Given the description of an element on the screen output the (x, y) to click on. 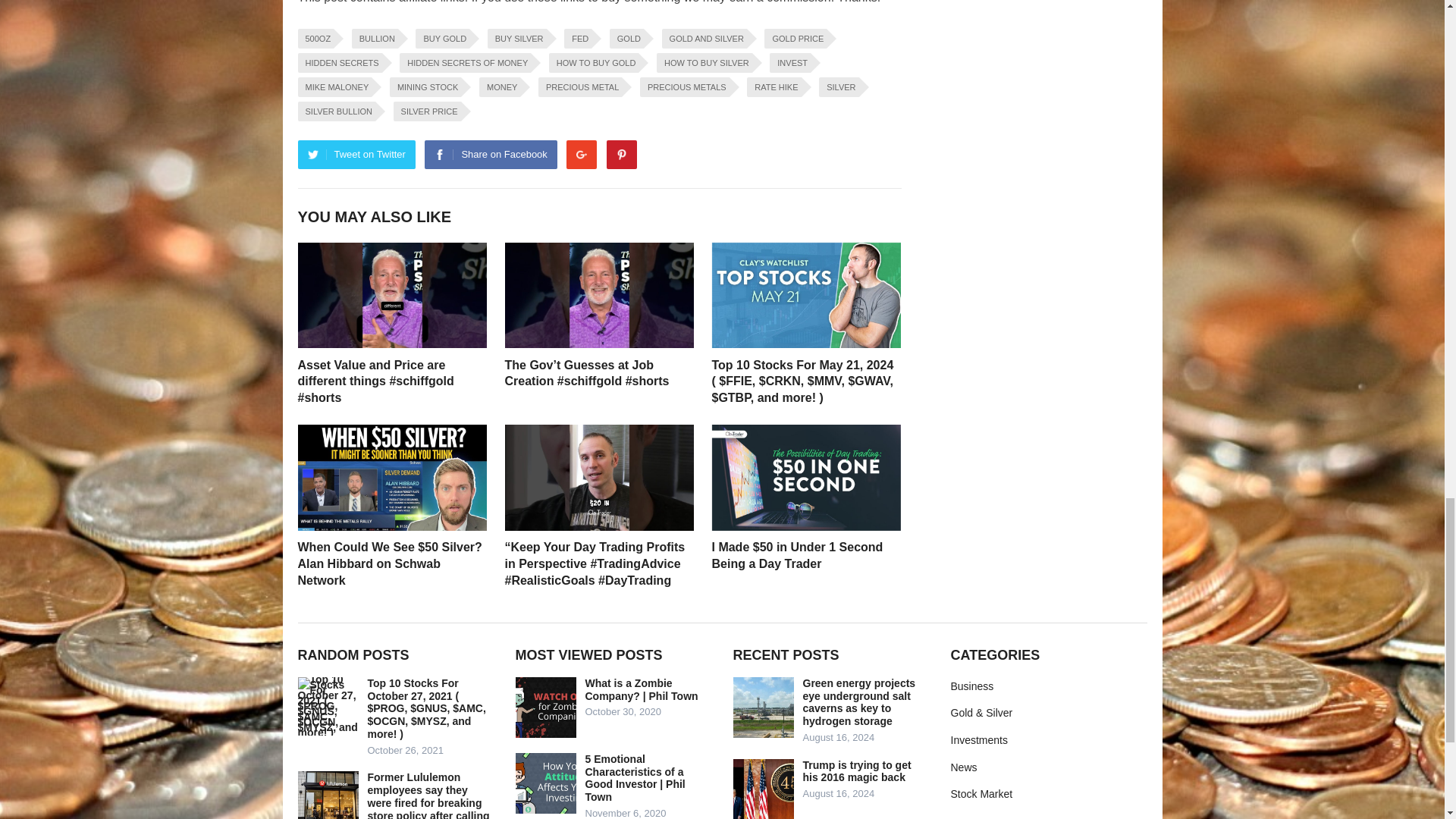
BULLION (374, 38)
BUY GOLD (441, 38)
500OZ (315, 38)
